Given the description of an element on the screen output the (x, y) to click on. 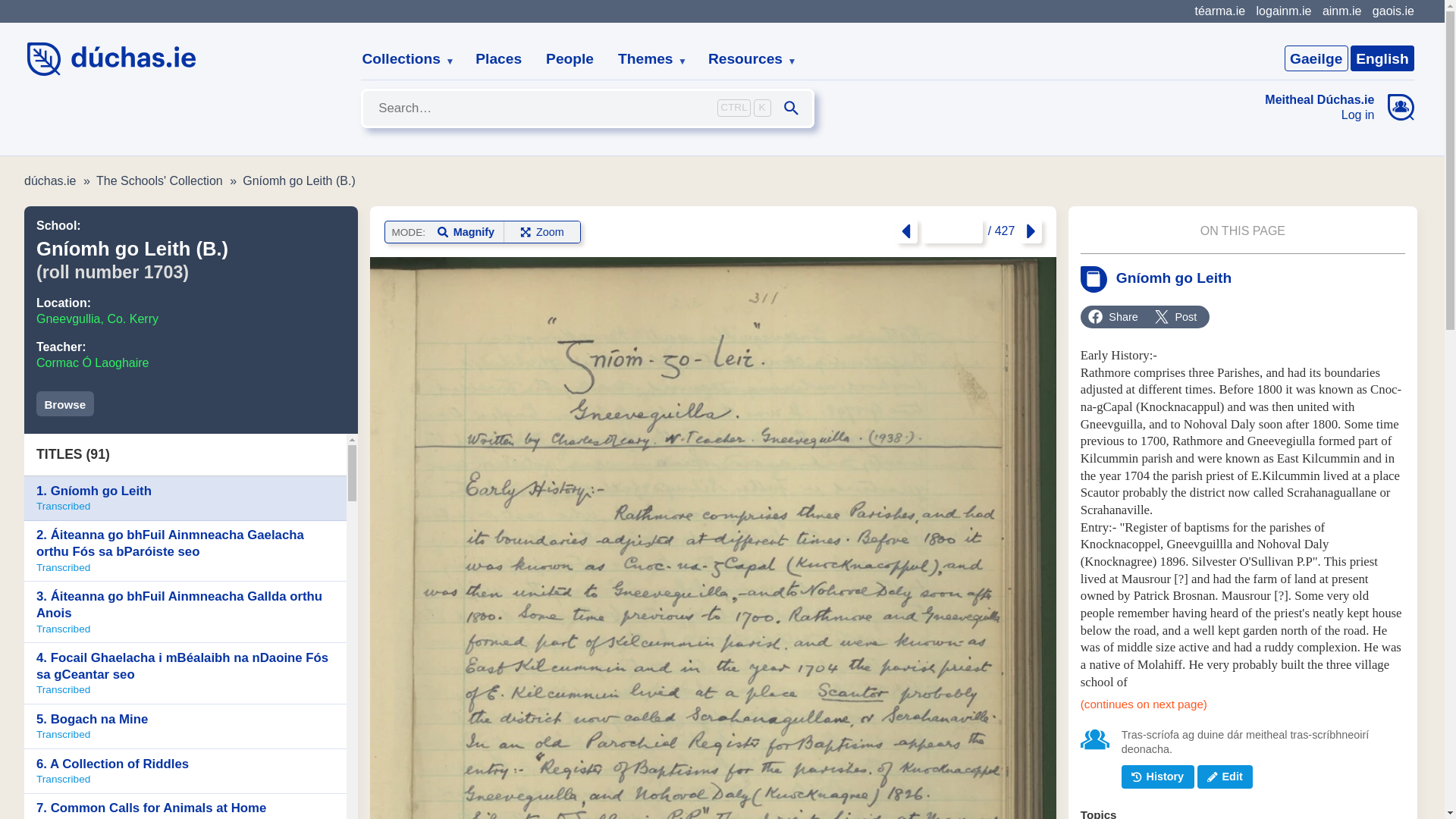
Places (498, 58)
Themes (646, 59)
Gneevgullia, Co. Kerry (97, 318)
Browse (65, 403)
Gaeilge (1316, 58)
Collections (401, 59)
The Schools' Collection (159, 180)
English (1382, 58)
Resources (745, 59)
ainm.ie (1341, 11)
